Given the description of an element on the screen output the (x, y) to click on. 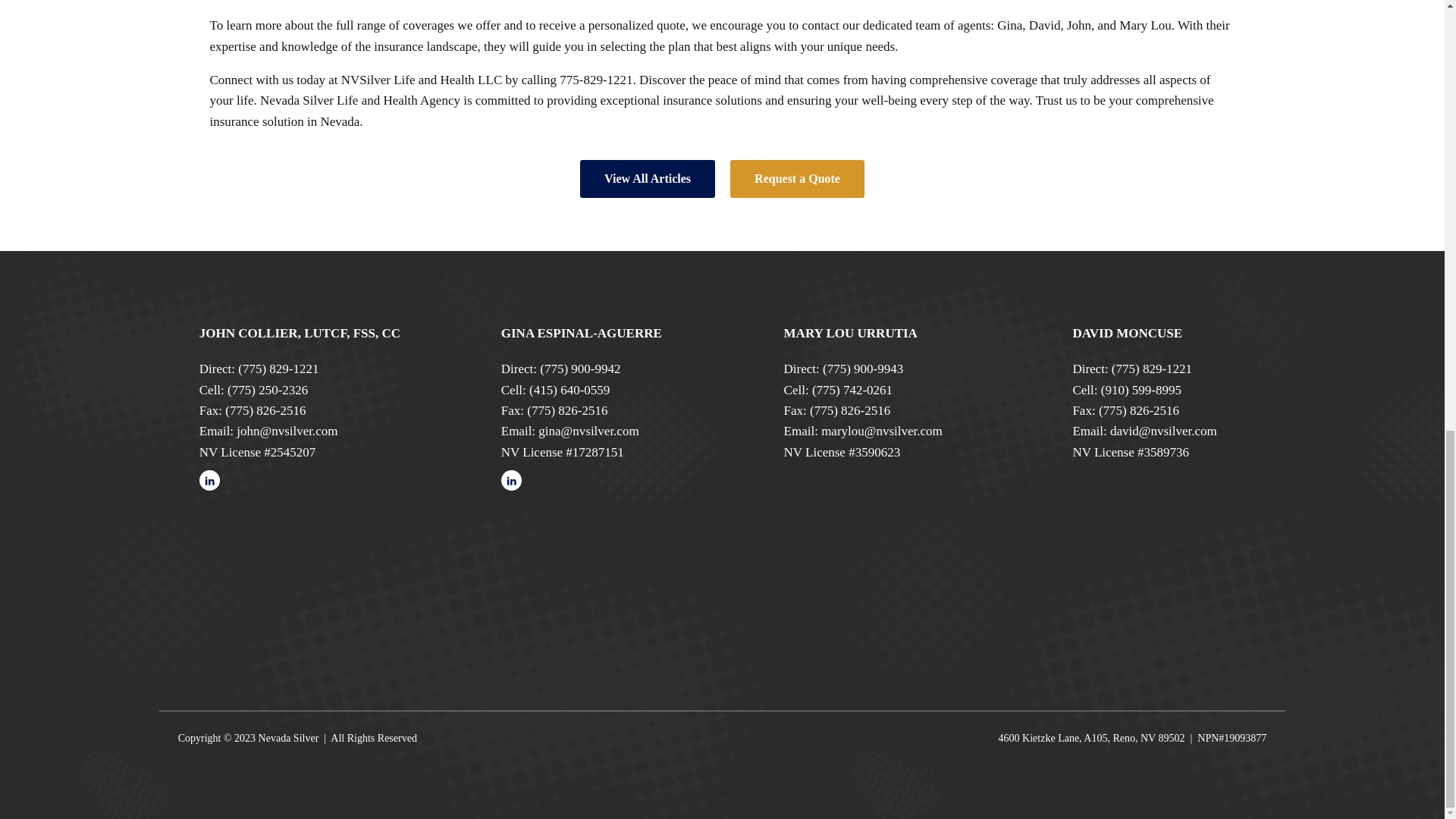
View All Articles (646, 178)
Request a Quote (797, 178)
4600 Kietzke Lane, A105, Reno, NV 89502 (1091, 738)
